Given the description of an element on the screen output the (x, y) to click on. 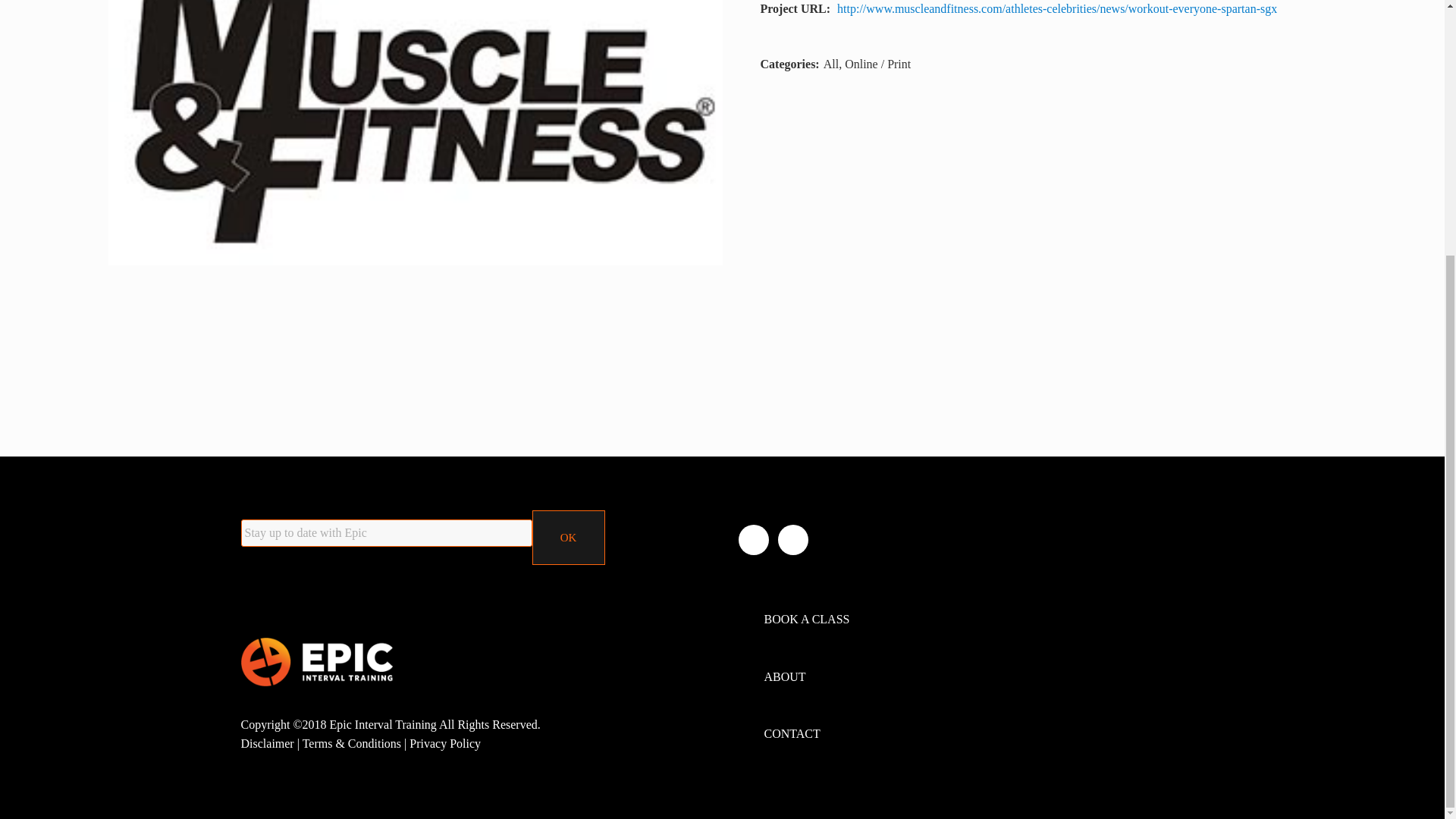
OK (568, 537)
